Given the description of an element on the screen output the (x, y) to click on. 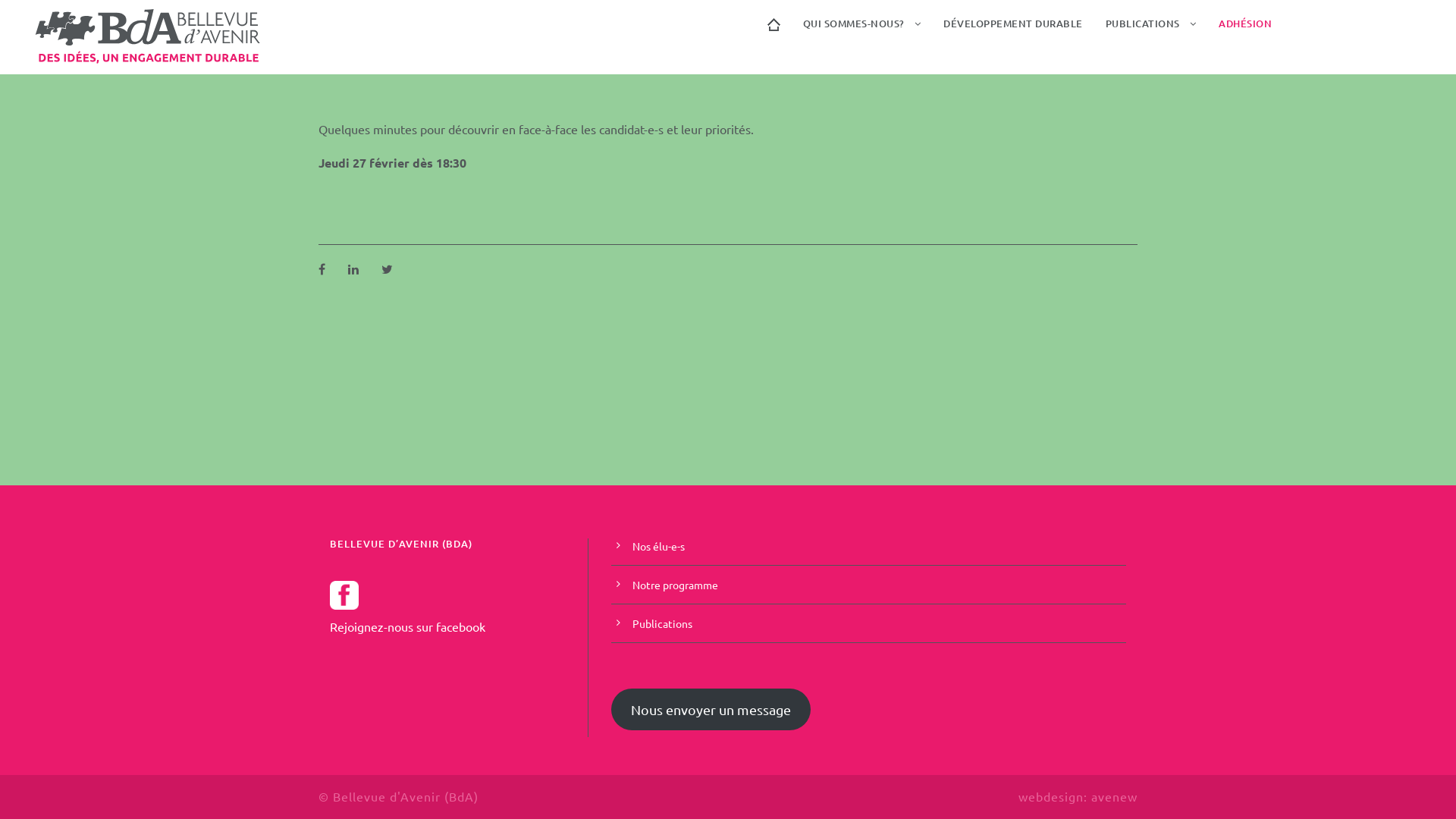
Notre programme Element type: text (675, 584)
Nous envoyer un message Element type: text (710, 709)
avenew Element type: text (1114, 795)
QUI SOMMES-NOUS? Element type: text (861, 31)
PUBLICATIONS Element type: text (1150, 31)
facebook Element type: text (460, 625)
Publications Element type: text (662, 623)
